Given the description of an element on the screen output the (x, y) to click on. 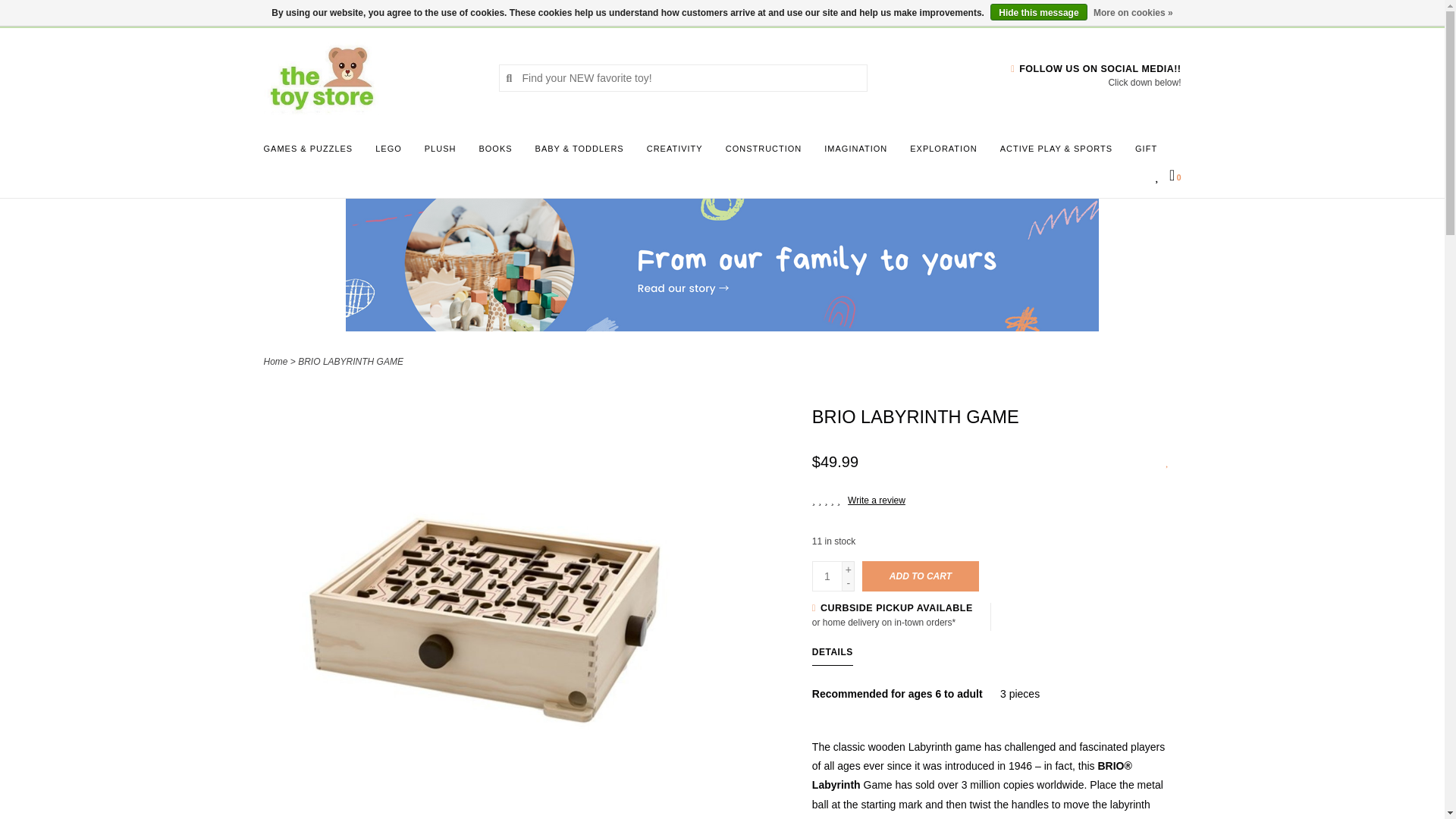
Contact us (341, 12)
Currency (282, 12)
THE TOY STORE (369, 77)
My account (390, 12)
Locations (1152, 12)
Login (390, 12)
1 (827, 576)
LEGO (392, 152)
